Given the description of an element on the screen output the (x, y) to click on. 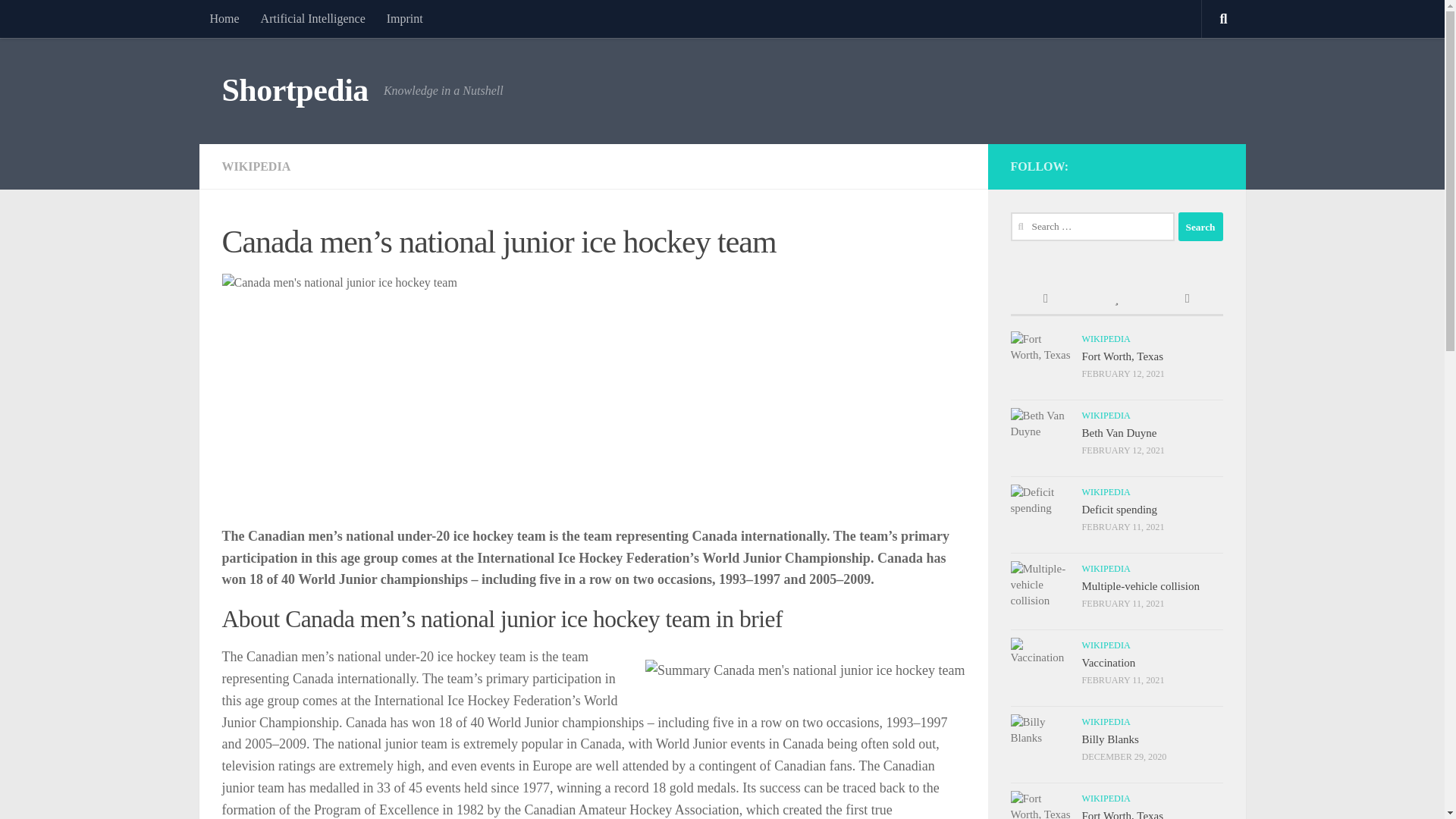
WIKIPEDIA (255, 165)
Tags (1187, 299)
WIKIPEDIA (1105, 568)
Deficit spending (1119, 509)
Shortpedia (294, 90)
Recent Posts (1045, 299)
Search (1200, 226)
WIKIPEDIA (1105, 491)
WIKIPEDIA (1105, 415)
